Given the description of an element on the screen output the (x, y) to click on. 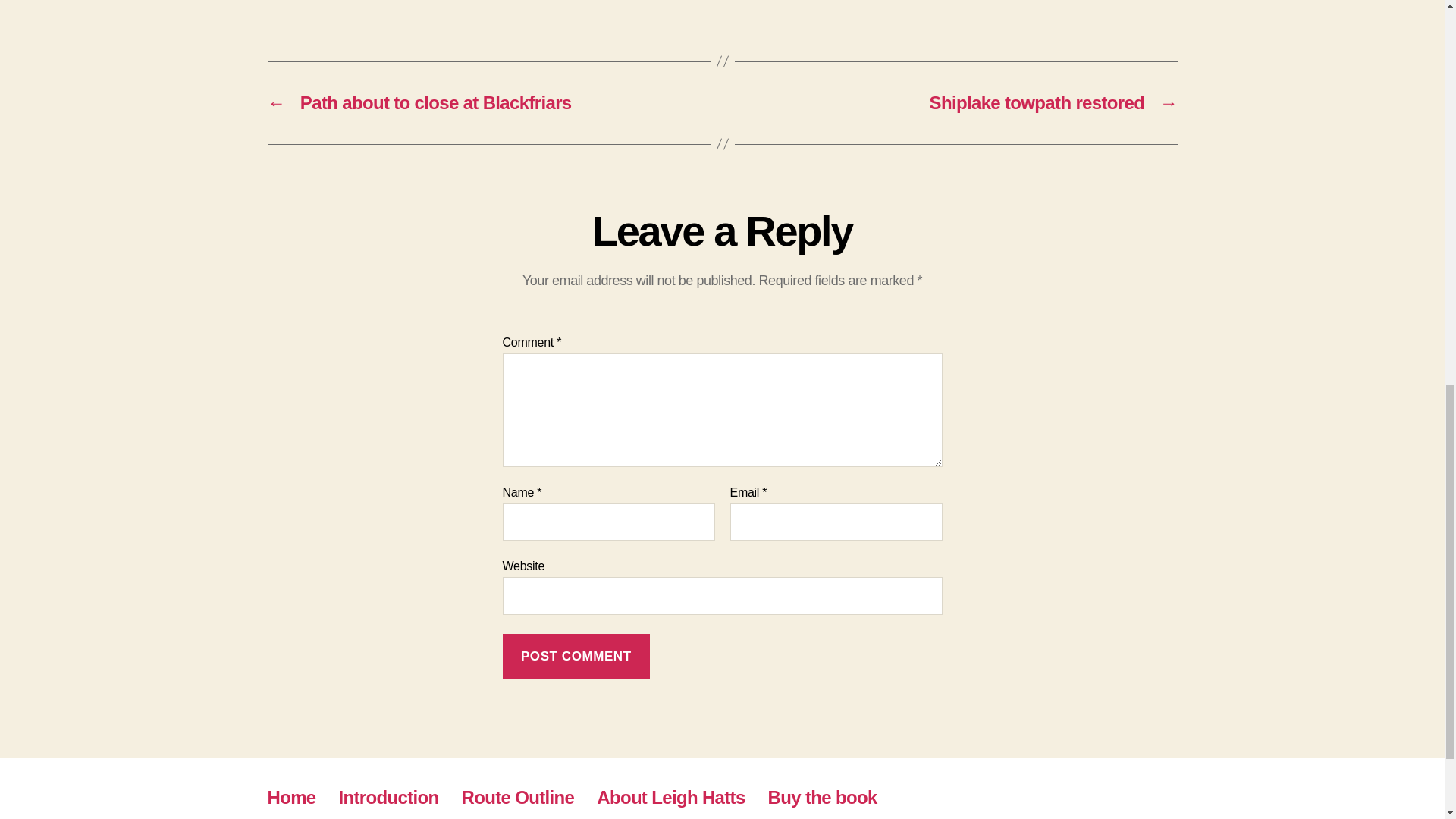
Route Outline (518, 797)
Home (290, 797)
Introduction (389, 797)
Post Comment (575, 655)
Post Comment (575, 655)
Buy the book (822, 797)
About Leigh Hatts (670, 797)
